Given the description of an element on the screen output the (x, y) to click on. 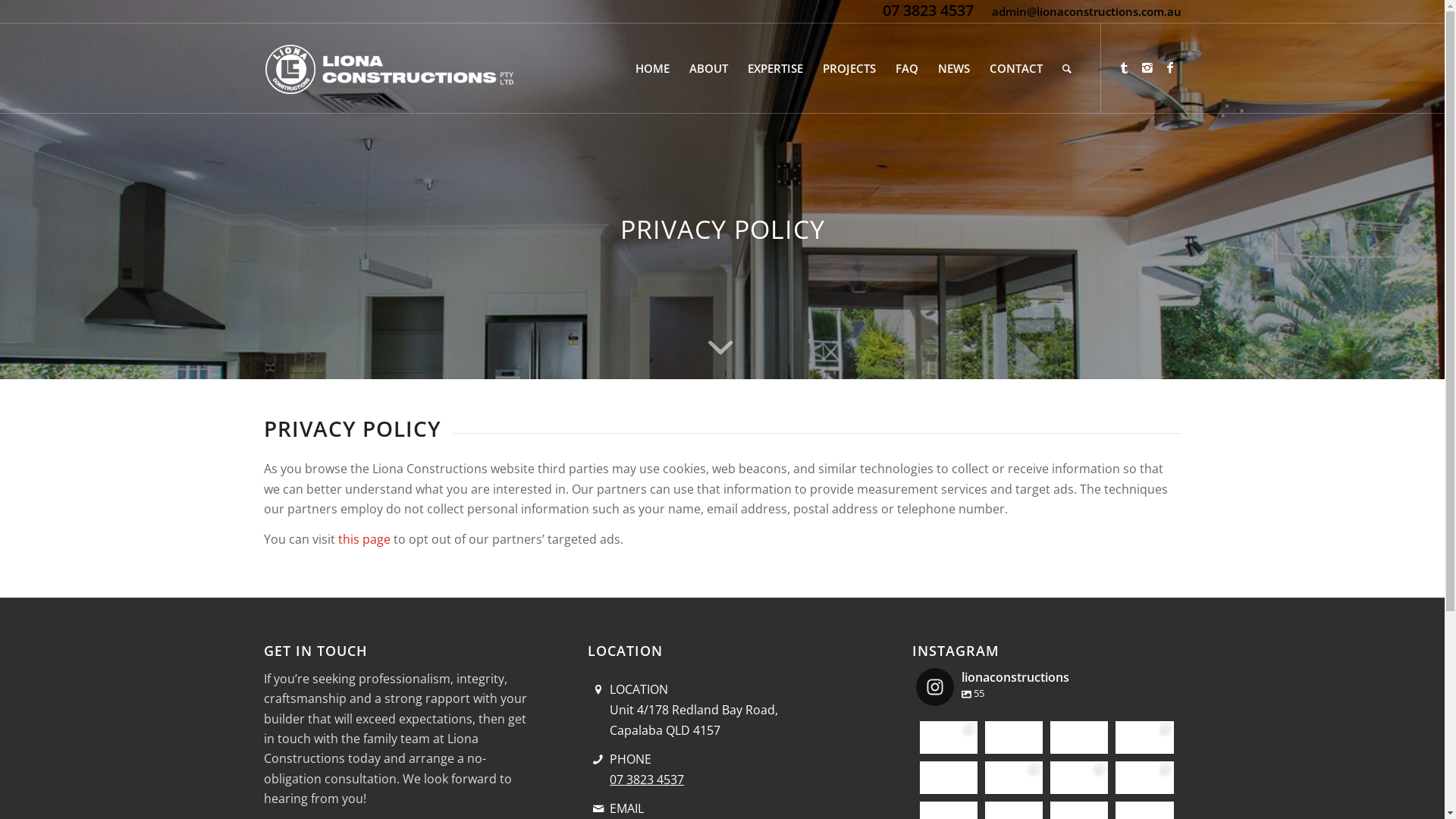
NEWS Element type: text (953, 67)
Refreshed and recharged. Looking forward to delive Element type: text (948, 777)
ABOUT Element type: text (708, 67)
A new renovation with Invilla Architecture coming Element type: text (948, 737)
this page Element type: text (364, 538)
We love the different external finishes on this re Element type: text (1078, 737)
Instagram Element type: hover (1146, 67)
PROJECTS Element type: text (848, 67)
Coming soon... A monster renovation & extension in Element type: text (1144, 737)
07 3823 4537 Element type: text (927, 10)
HOME Element type: text (651, 67)
CONTACT Element type: text (1015, 67)
FAQ Element type: text (906, 67)
lionaconstructions
55 Element type: text (992, 687)
Tumblr Element type: hover (1124, 67)
We're thrilled to have one of our recent projects Element type: text (1078, 777)
EXPERTISE Element type: text (774, 67)
Facebook Element type: hover (1169, 67)
07 3823 4537 Element type: text (646, 779)
Finito!!! It's all in the details... We're in love Element type: text (1013, 777)
Humbled to receive our 20yr membership certificate Element type: text (1013, 737)
